Given the description of an element on the screen output the (x, y) to click on. 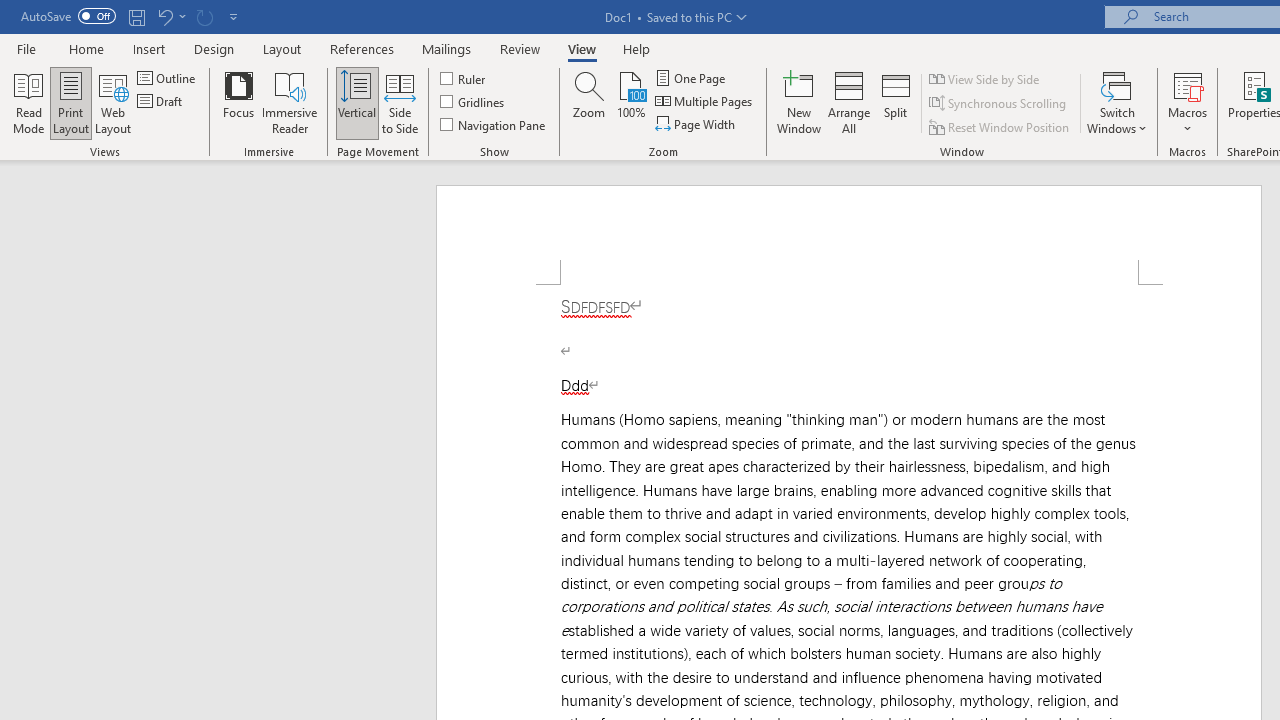
Gridlines (473, 101)
Split (895, 102)
